Given the description of an element on the screen output the (x, y) to click on. 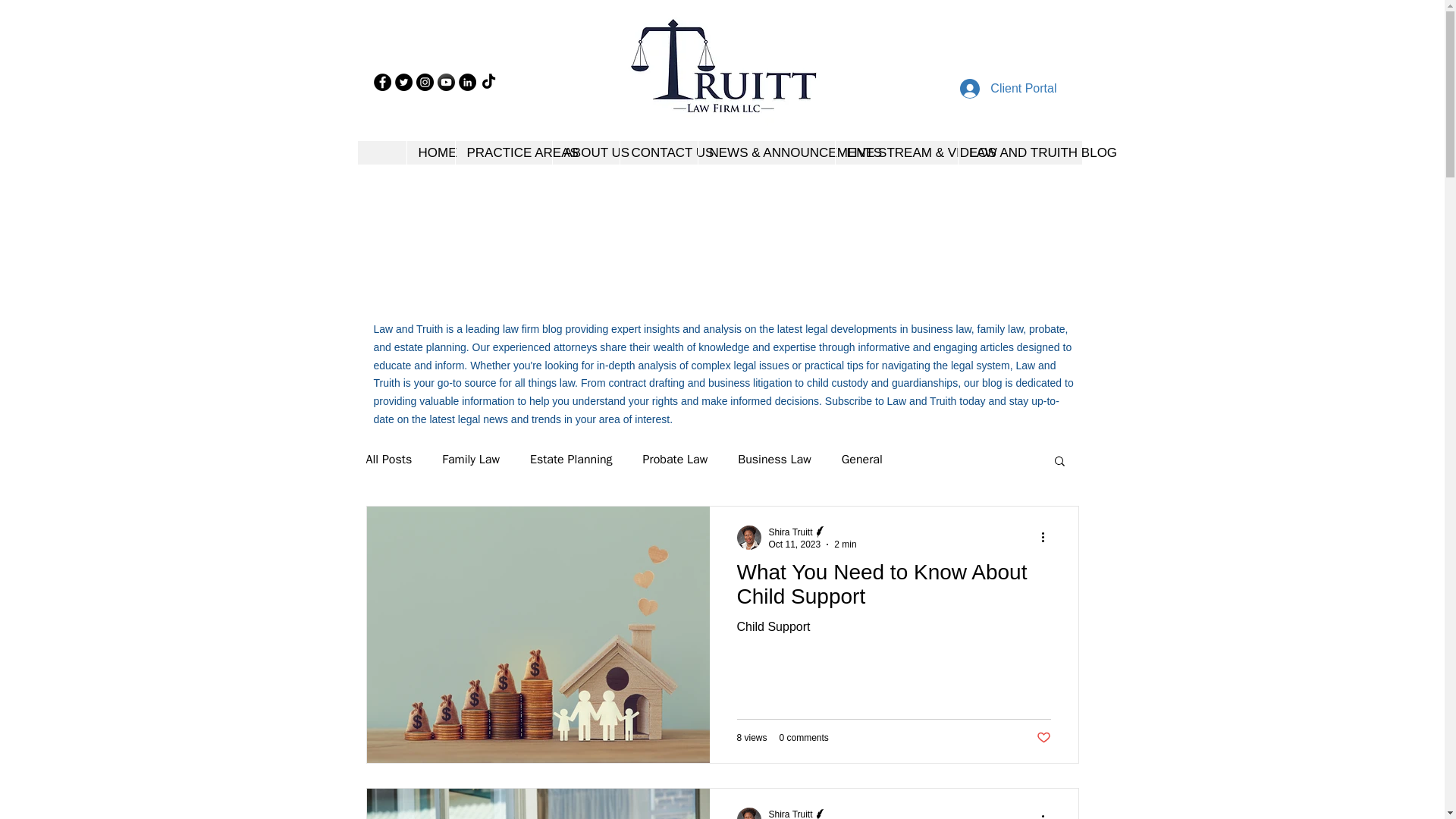
Client Portal (1008, 88)
2 min (845, 543)
Oct 11, 2023 (794, 543)
Probate Law (675, 459)
Post not marked as liked (1042, 738)
General (861, 459)
Estate Planning (570, 459)
LAW AND TRUITH BLOG (1018, 152)
PRACTICE AREAS (502, 152)
Business Law (774, 459)
HOME (430, 152)
All Posts (388, 459)
CONTACT US (657, 152)
Shira Truitt (790, 532)
What You Need to Know About Child Support (893, 588)
